Given the description of an element on the screen output the (x, y) to click on. 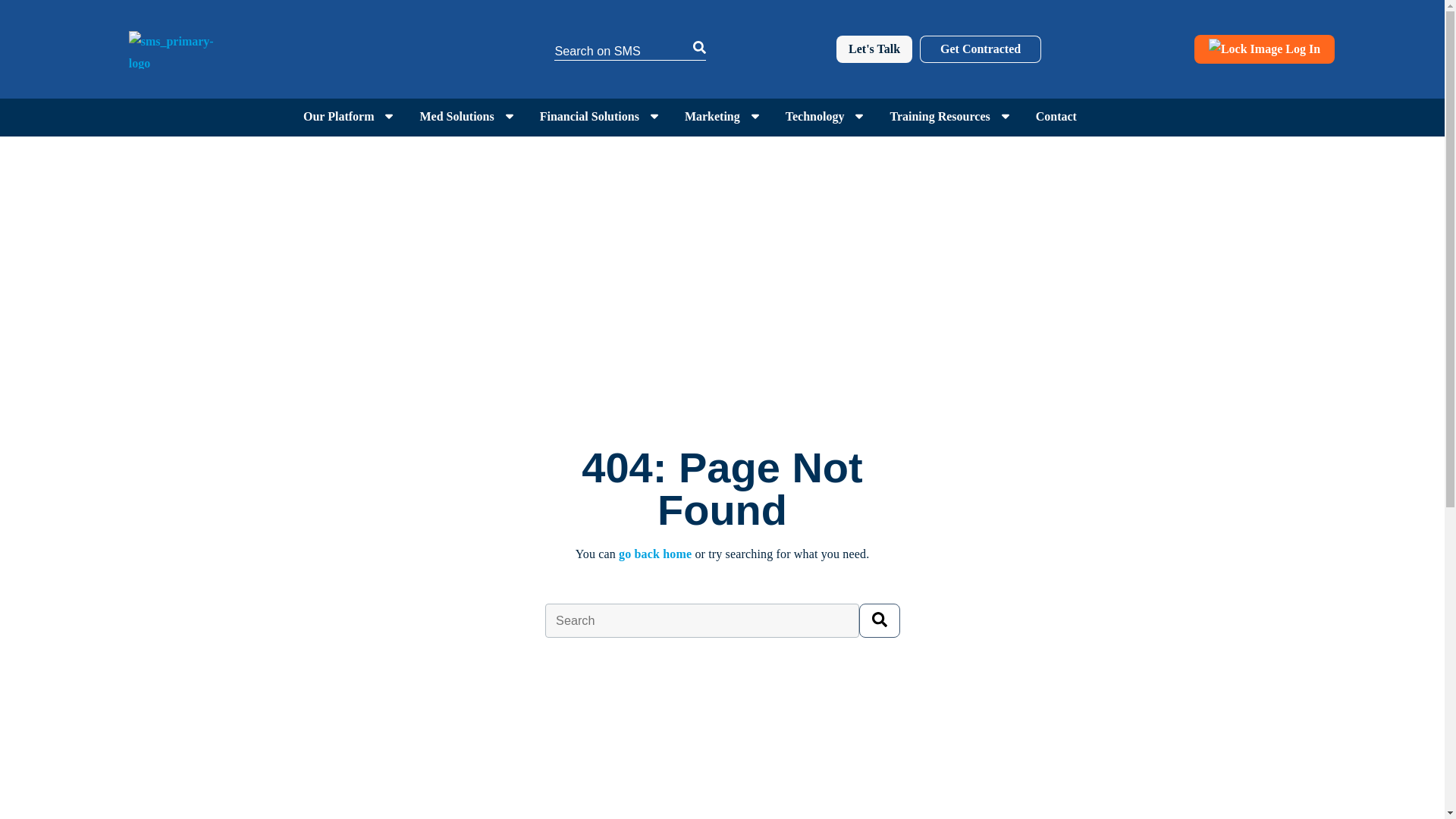
Show submenu for Financial Solutions (654, 116)
Get Contracted (980, 49)
Show submenu for Our Platform (388, 116)
Show submenu for Marketing (755, 116)
Our Platform (338, 115)
Show submenu for Technology (858, 116)
Training Resources (939, 115)
Financial Solutions (589, 115)
Med Solutions (456, 115)
Let's Talk (873, 49)
Show submenu for Training Resources (1005, 116)
Technology (815, 115)
Lock Image (1245, 49)
Log In (1264, 49)
Show submenu for Med Solutions (509, 116)
